Given the description of an element on the screen output the (x, y) to click on. 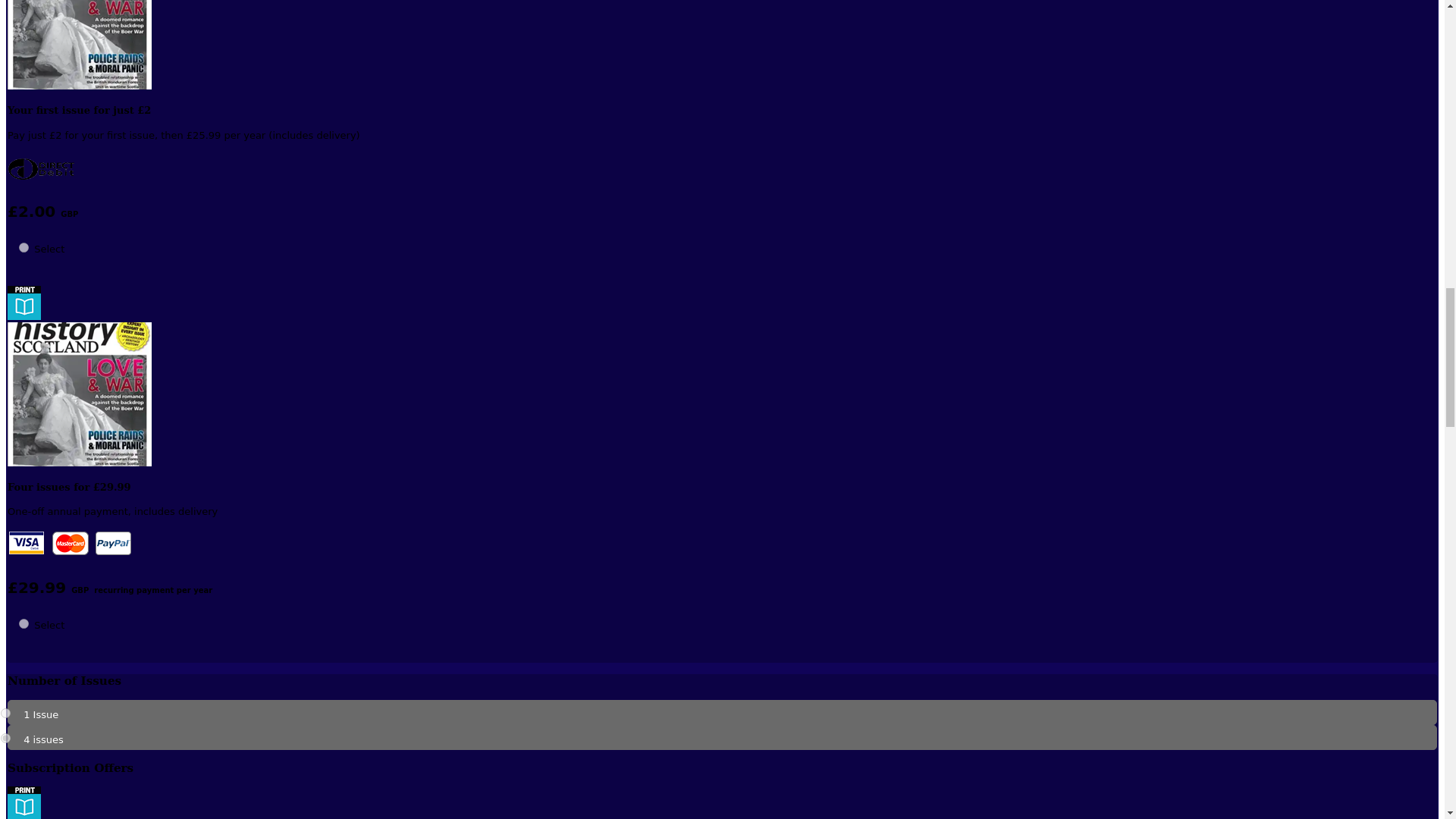
20231 (23, 247)
Print Edition (23, 802)
Print Edition (23, 302)
20233 (23, 623)
1 (5, 713)
Select this option to pay via Direct Debit (41, 167)
4 (5, 737)
Select this option to pay via Credit Card or PayPal (69, 544)
